Given the description of an element on the screen output the (x, y) to click on. 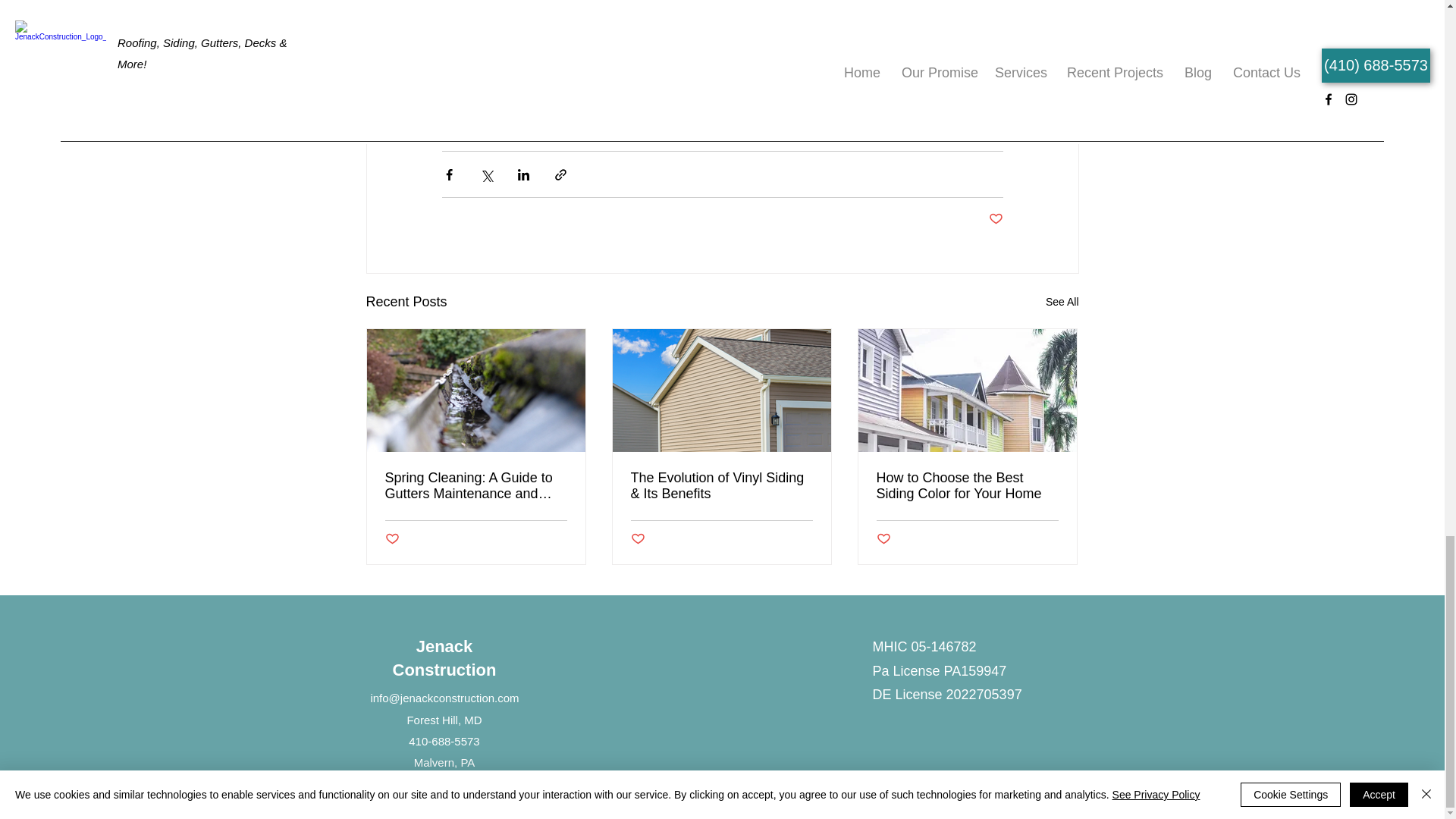
Post not marked as liked (391, 539)
Spring Cleaning: A Guide to Gutters Maintenance and Repair (476, 486)
Post not marked as liked (995, 219)
Jenack Construction (444, 658)
See All (1061, 301)
How to Choose the Best Siding Color for Your Home (967, 486)
Post not marked as liked (637, 539)
Post not marked as liked (883, 539)
